Given the description of an element on the screen output the (x, y) to click on. 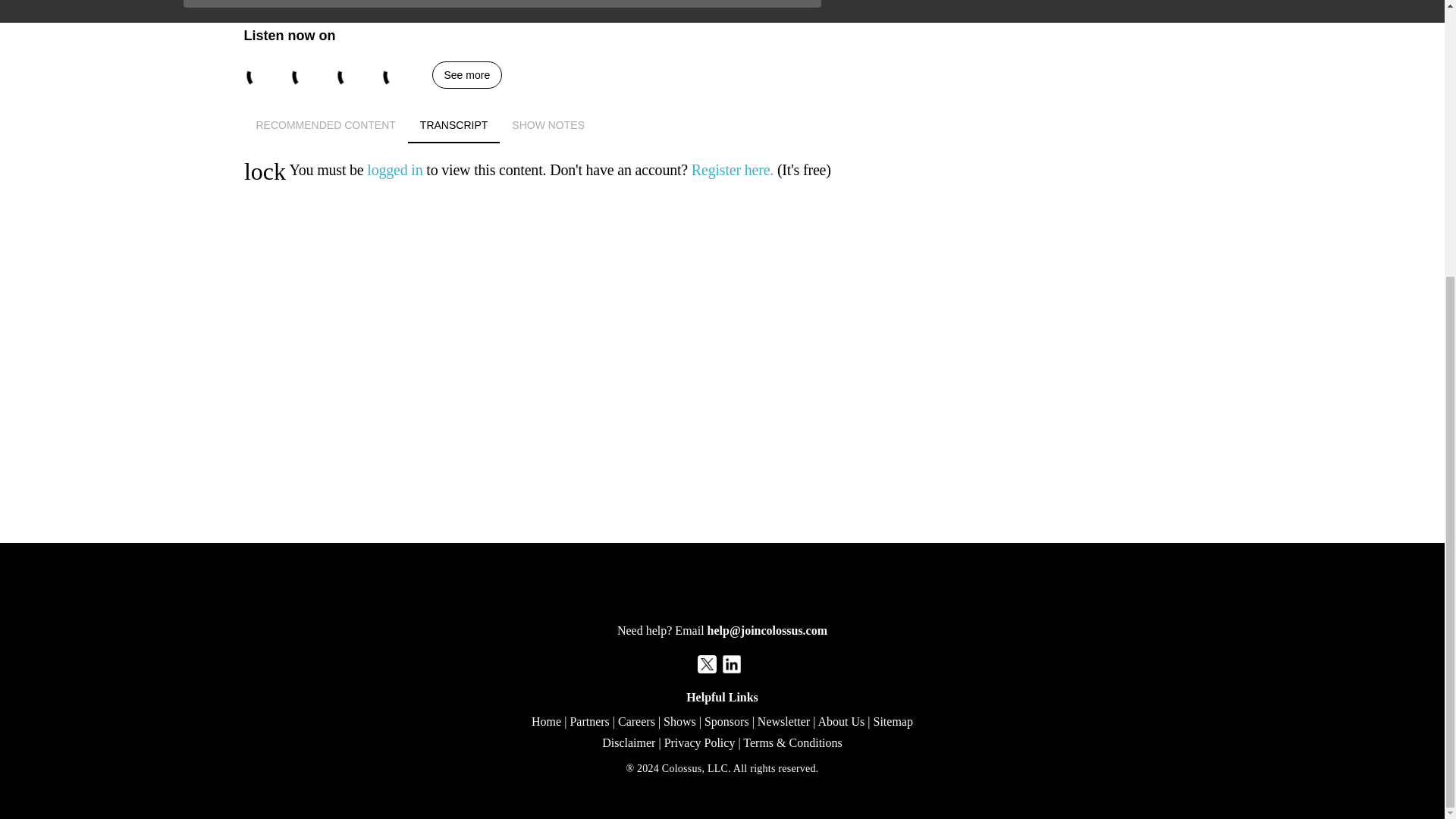
About Us (840, 721)
Shows (679, 721)
Privacy Policy (699, 742)
Newsletter (783, 721)
Home (545, 721)
Careers (722, 125)
SHOW NOTES (636, 721)
Disclaimer (547, 125)
RECOMMENDED CONTENT (628, 742)
Partners (325, 125)
See more (588, 721)
Sitemap (467, 74)
TRANSCRIPT (722, 125)
